Given the description of an element on the screen output the (x, y) to click on. 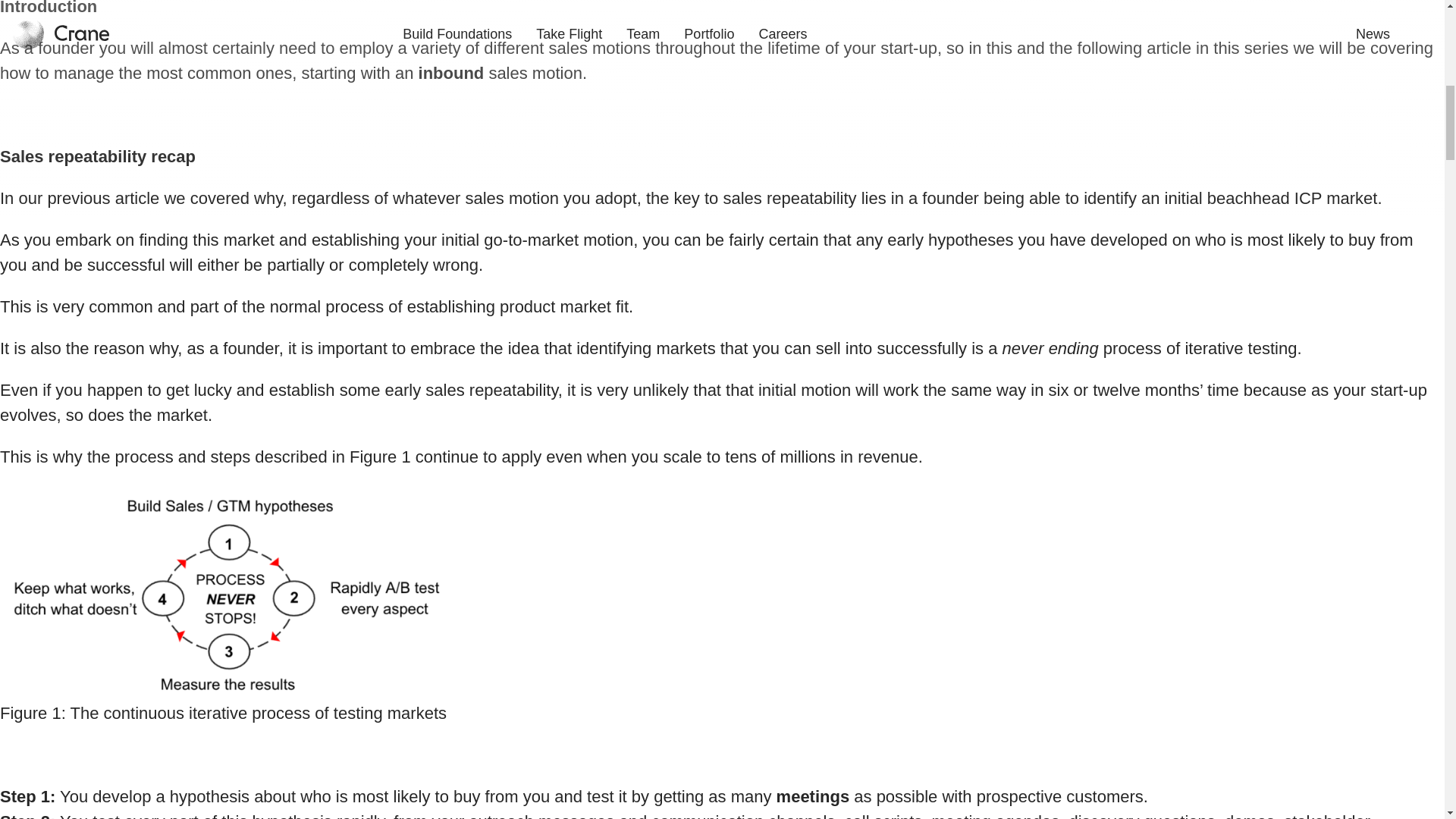
previous article (102, 198)
beachhead (1248, 198)
